Given the description of an element on the screen output the (x, y) to click on. 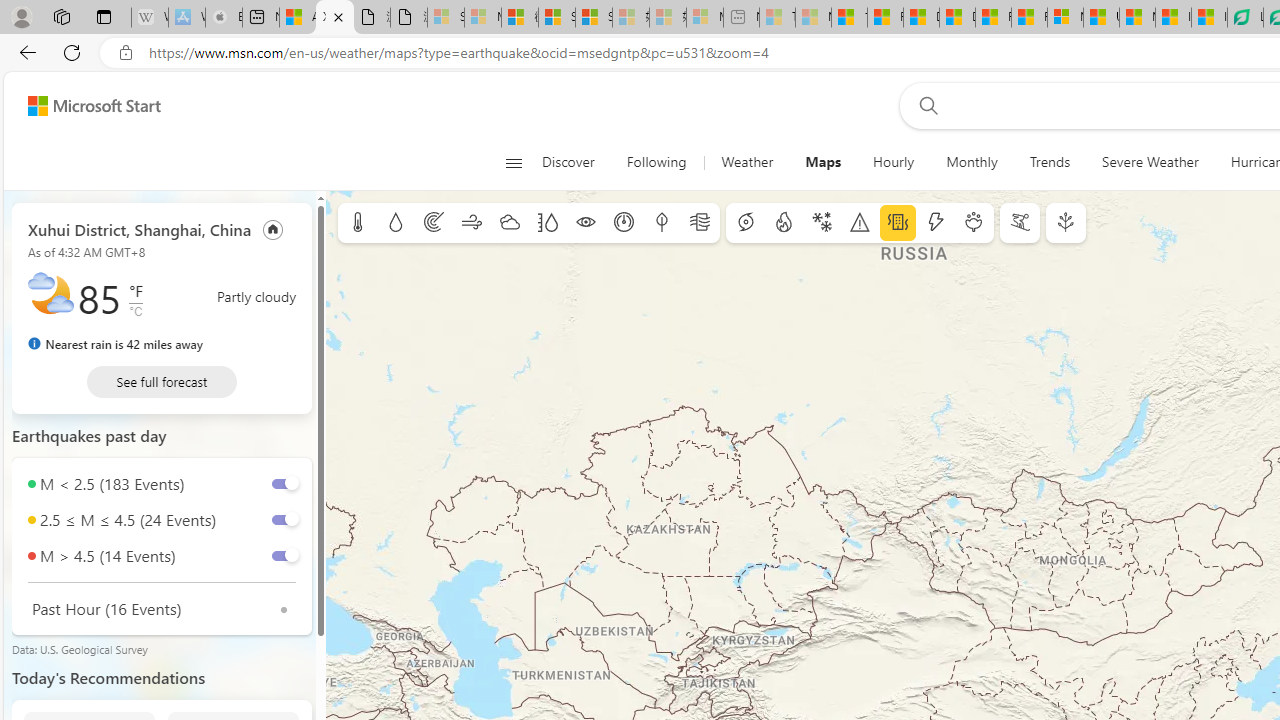
Air quality (700, 223)
Visibility (586, 223)
Set as primary location (273, 228)
Maps (823, 162)
Xuhui District, Shanghai, China (140, 228)
Severe Weather (1150, 162)
Earthquake (898, 223)
Food and Drink - MSN (884, 17)
Temperature (358, 223)
